Given the description of an element on the screen output the (x, y) to click on. 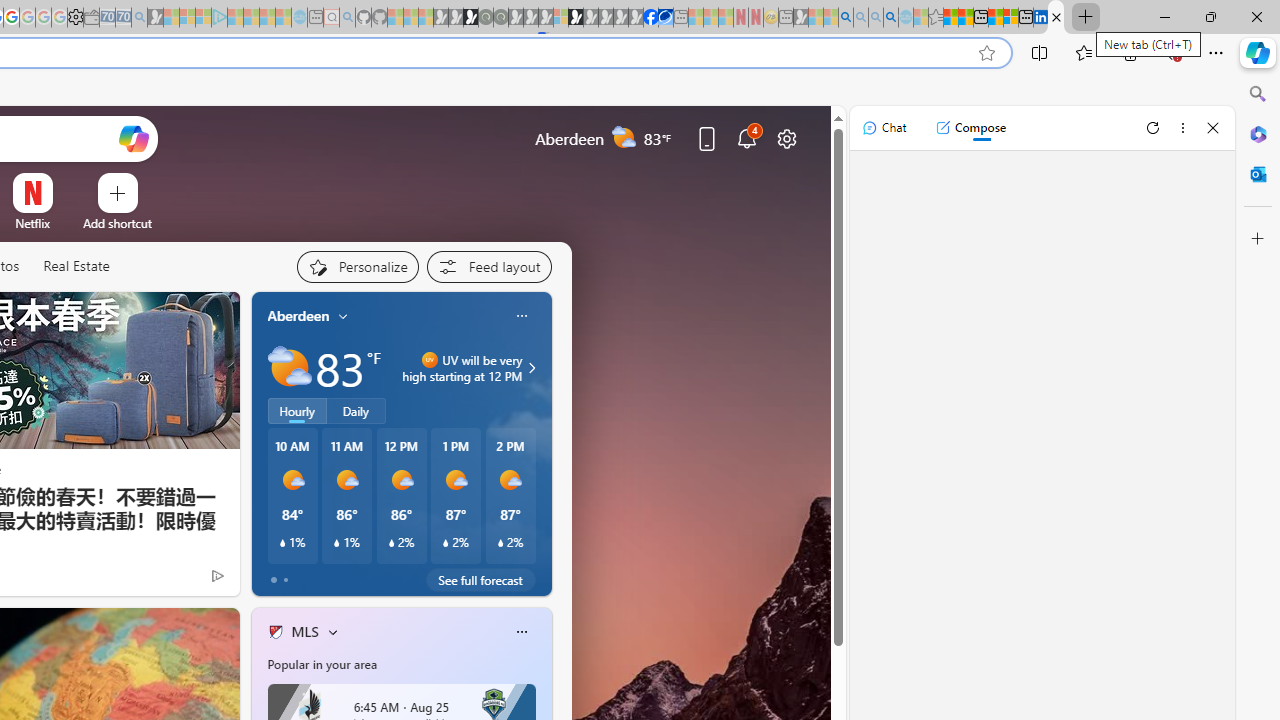
Page settings (786, 138)
MSN - Sleeping (800, 17)
Class: icon-img (521, 632)
tab-1 (285, 579)
Partly sunny (289, 368)
